Given the description of an element on the screen output the (x, y) to click on. 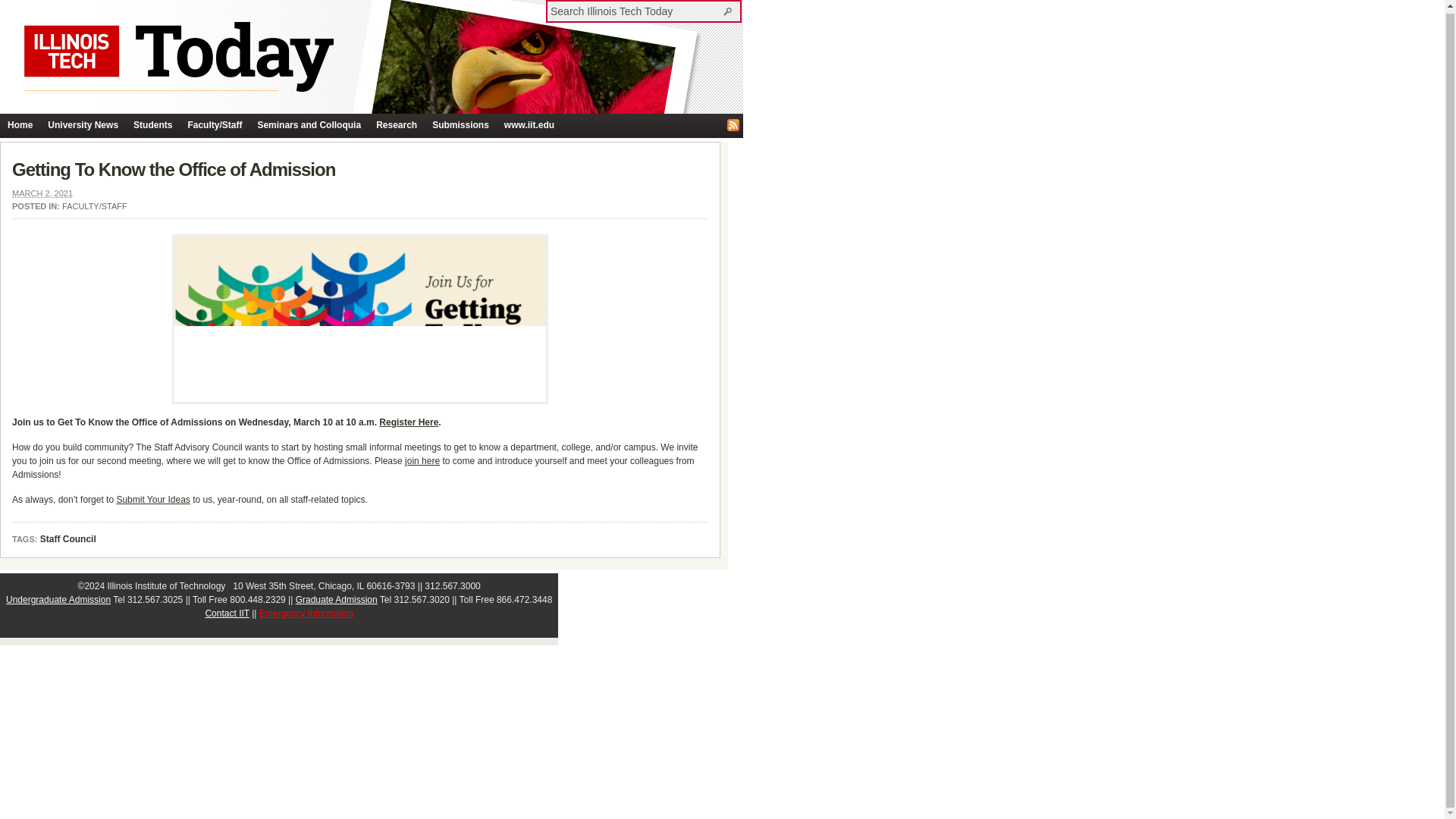
RSS Feed (732, 124)
Search (729, 10)
Getting To Know the Office of Admission (172, 168)
Undergraduate Admission (57, 599)
Contact IIT (226, 613)
Graduate Admission (336, 599)
University News (82, 125)
Submissions (460, 125)
Illinois Tech Today RSS Feed (732, 124)
Research (396, 125)
